Given the description of an element on the screen output the (x, y) to click on. 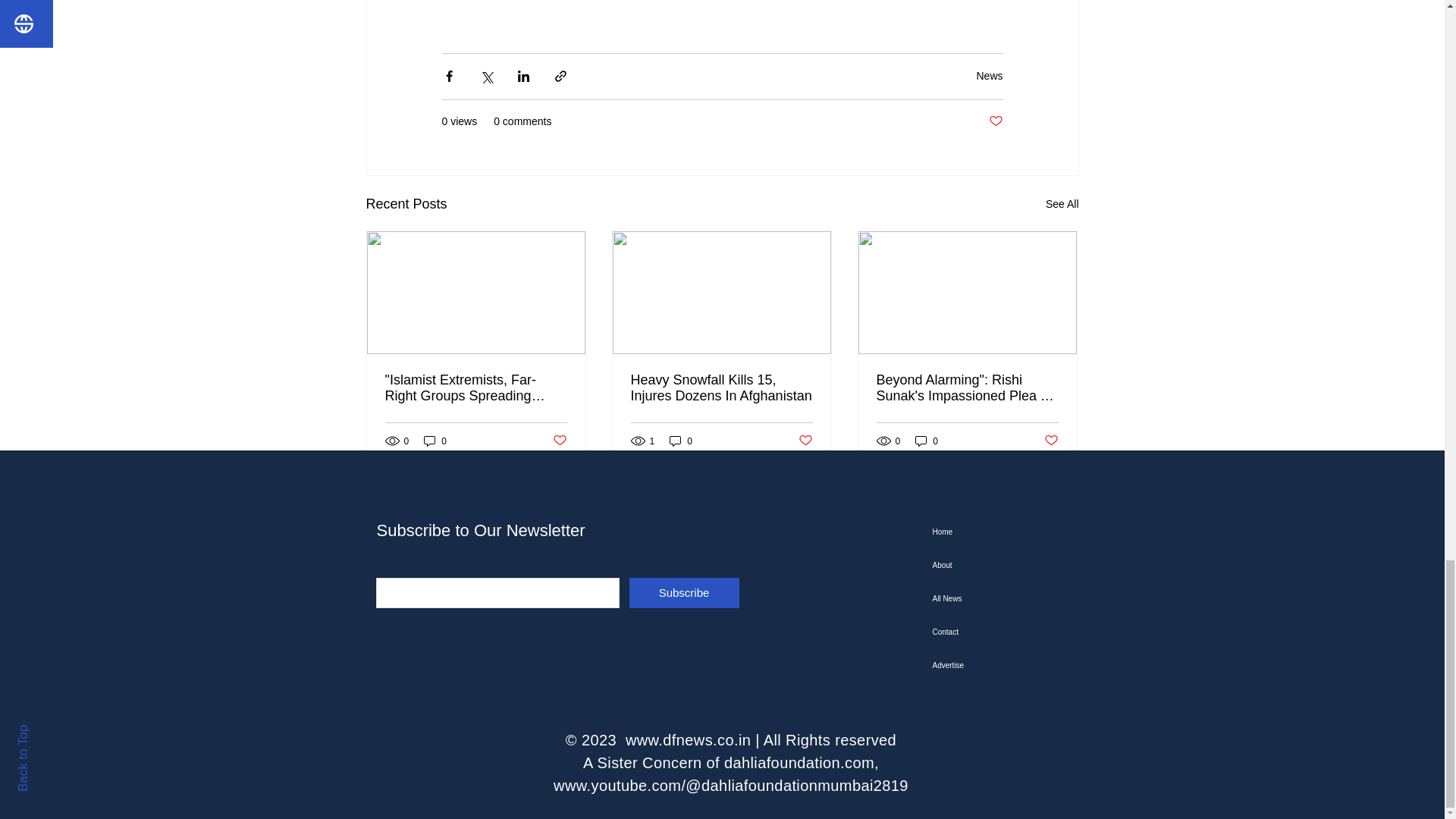
Post not marked as liked (558, 440)
Post not marked as liked (995, 121)
Heavy Snowfall Kills 15, Injures Dozens In Afghanistan (721, 388)
0 (435, 440)
See All (1061, 204)
0 (926, 440)
Post not marked as liked (804, 440)
News (989, 75)
0 (681, 440)
